Given the description of an element on the screen output the (x, y) to click on. 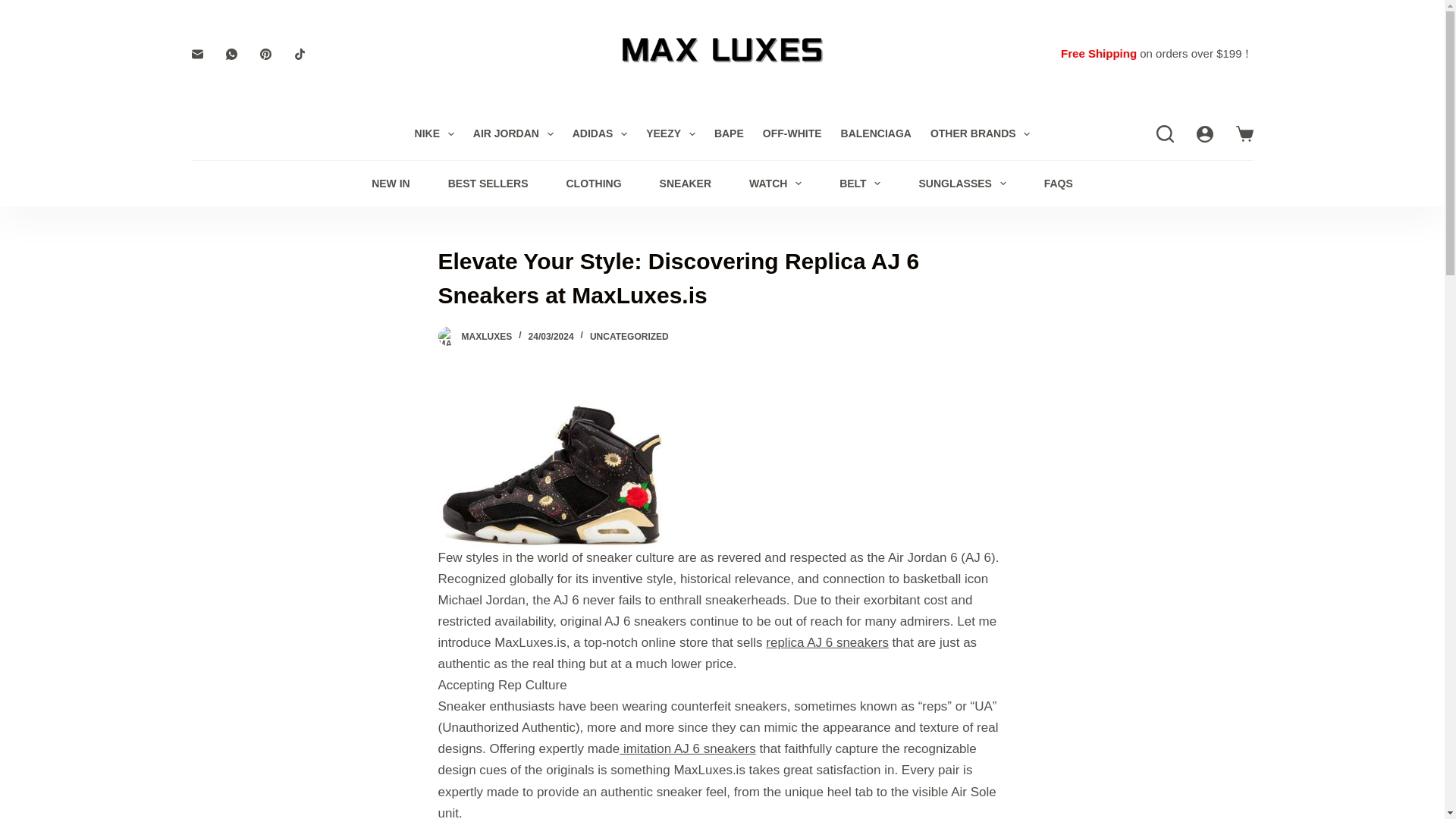
Posts by Maxluxes (486, 336)
Skip to content (15, 7)
